Given the description of an element on the screen output the (x, y) to click on. 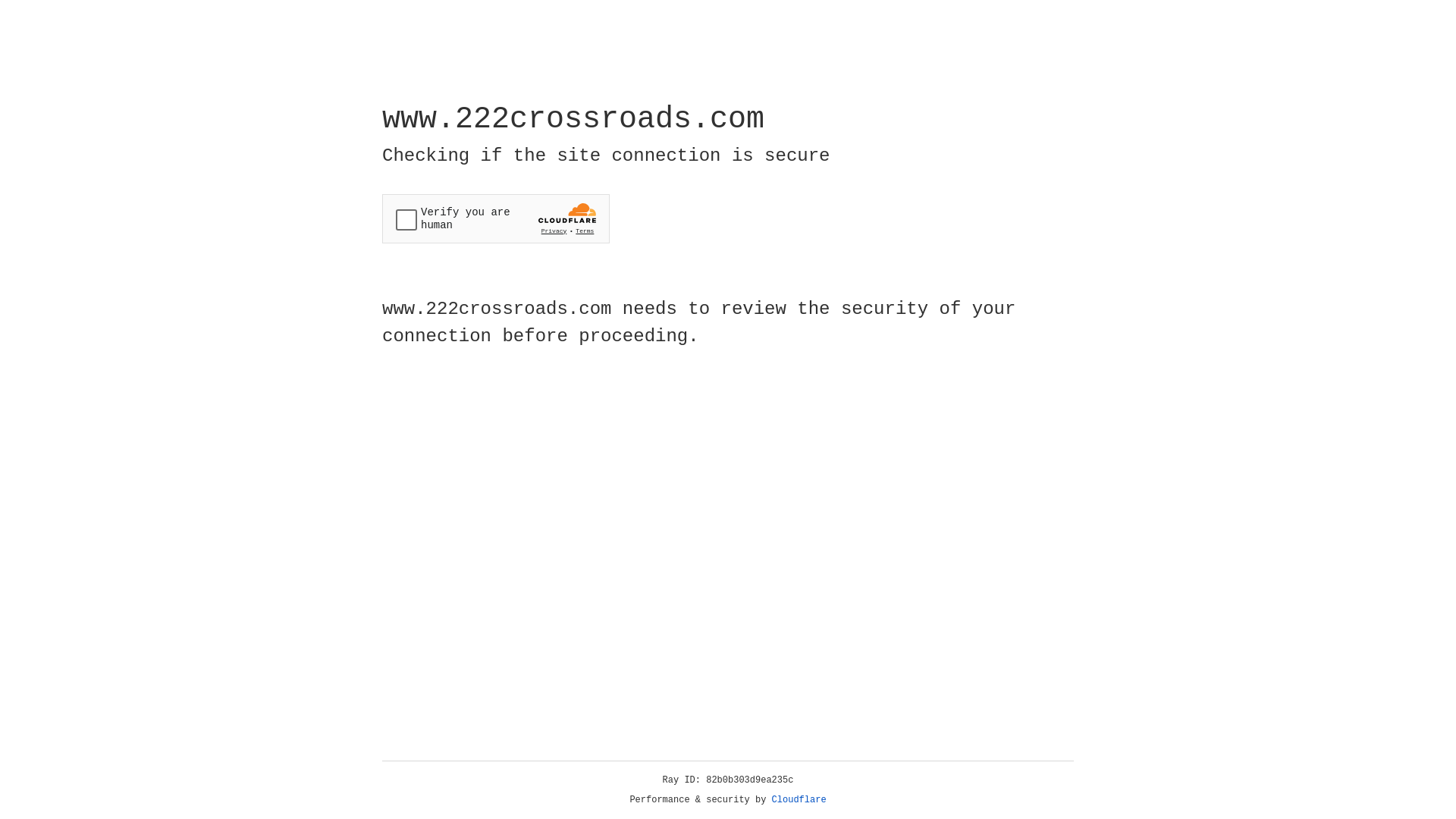
Widget containing a Cloudflare security challenge Element type: hover (495, 218)
Cloudflare Element type: text (798, 799)
